Given the description of an element on the screen output the (x, y) to click on. 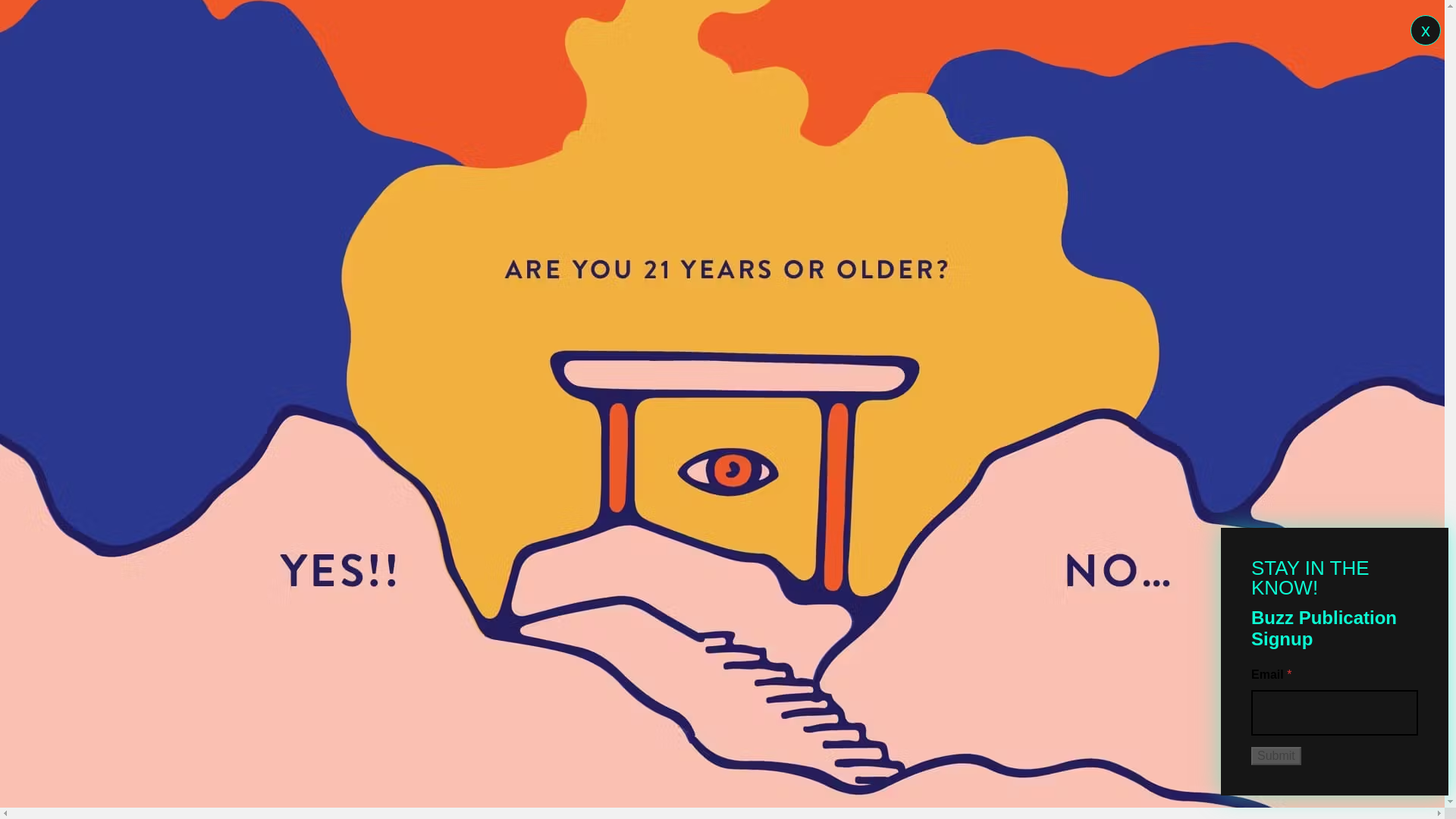
Instagram IconThe Instagram service icon (1419, 30)
Archetype Brewing (106, 30)
About (235, 30)
Events (386, 30)
Beer (308, 30)
Visit (1339, 30)
